Given the description of an element on the screen output the (x, y) to click on. 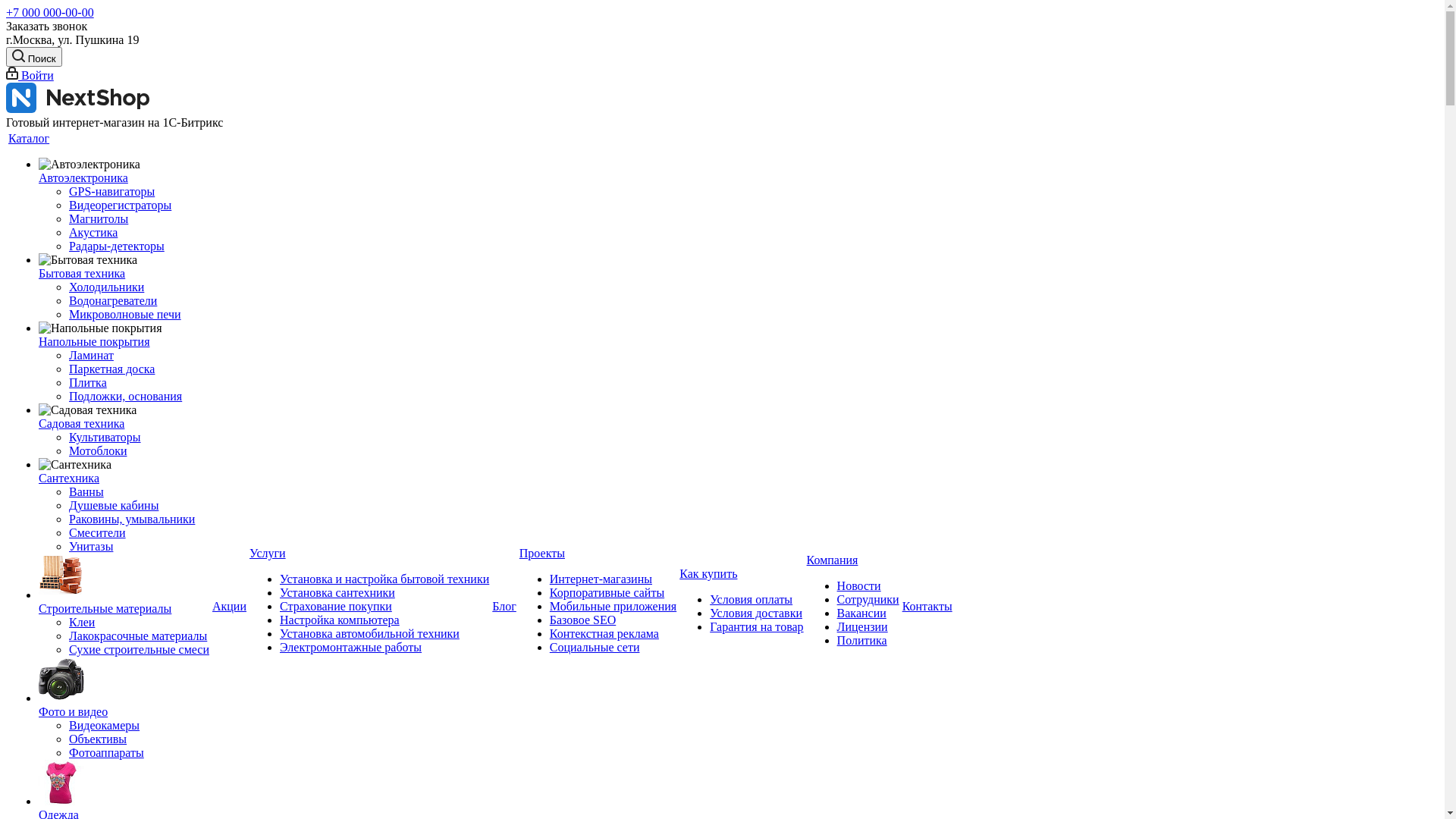
+7 000 000-00-00 Element type: text (50, 12)
